Given the description of an element on the screen output the (x, y) to click on. 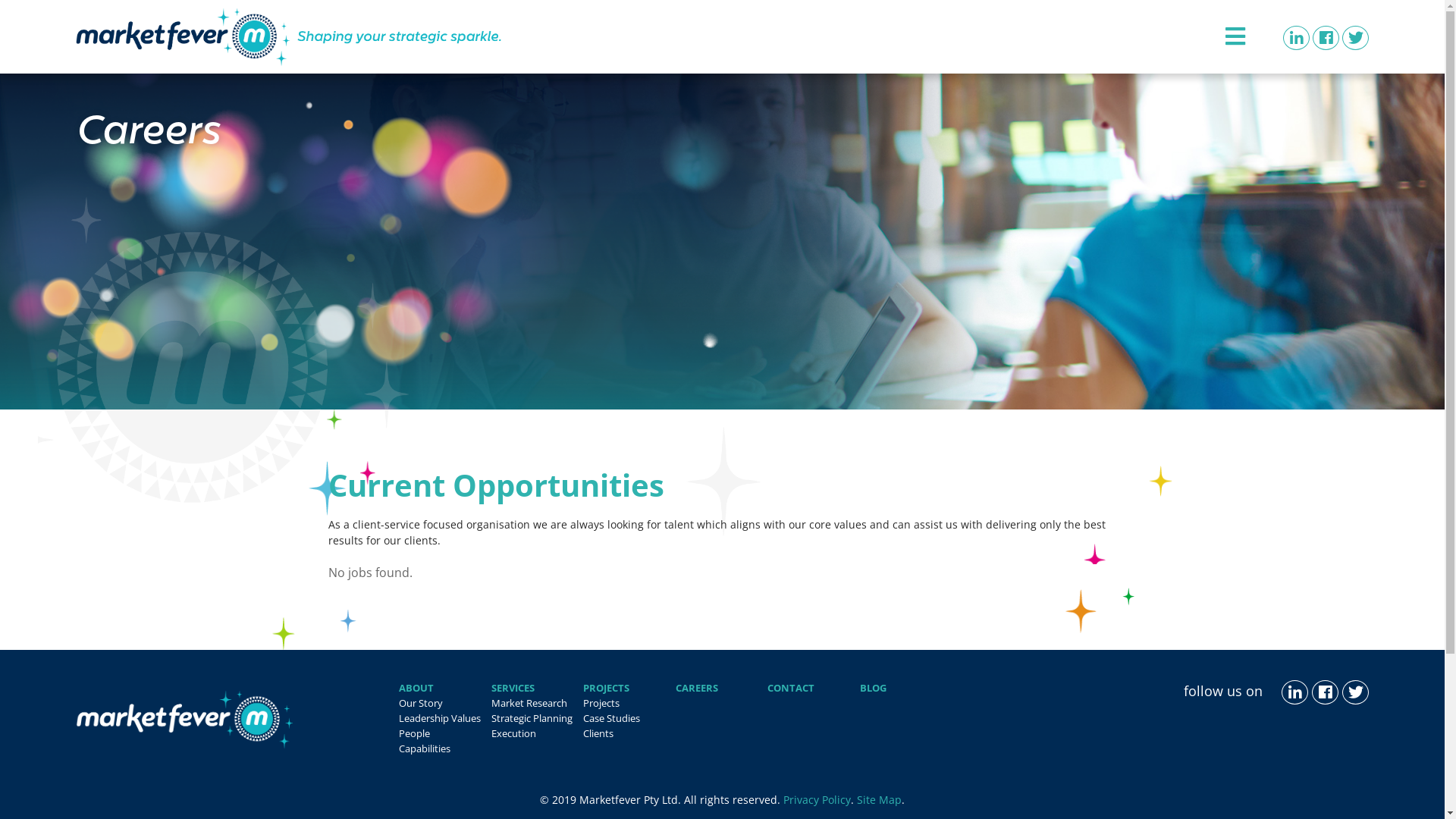
Clients Element type: text (598, 733)
Leadership Values Element type: text (439, 717)
Privacy Policy Element type: text (816, 799)
Our Story Element type: text (420, 702)
Site Map Element type: text (878, 799)
PROJECTS Element type: text (606, 687)
Capabilities Element type: text (424, 748)
Projects Element type: text (601, 702)
BLOG Element type: text (872, 687)
Strategic Planning Element type: text (531, 717)
Execution Element type: text (513, 733)
ABOUT Element type: text (415, 687)
Case Studies Element type: text (611, 717)
CONTACT Element type: text (790, 687)
SERVICES Element type: text (512, 687)
Market Research Element type: text (529, 702)
People Element type: text (413, 733)
CAREERS Element type: text (696, 687)
